Given the description of an element on the screen output the (x, y) to click on. 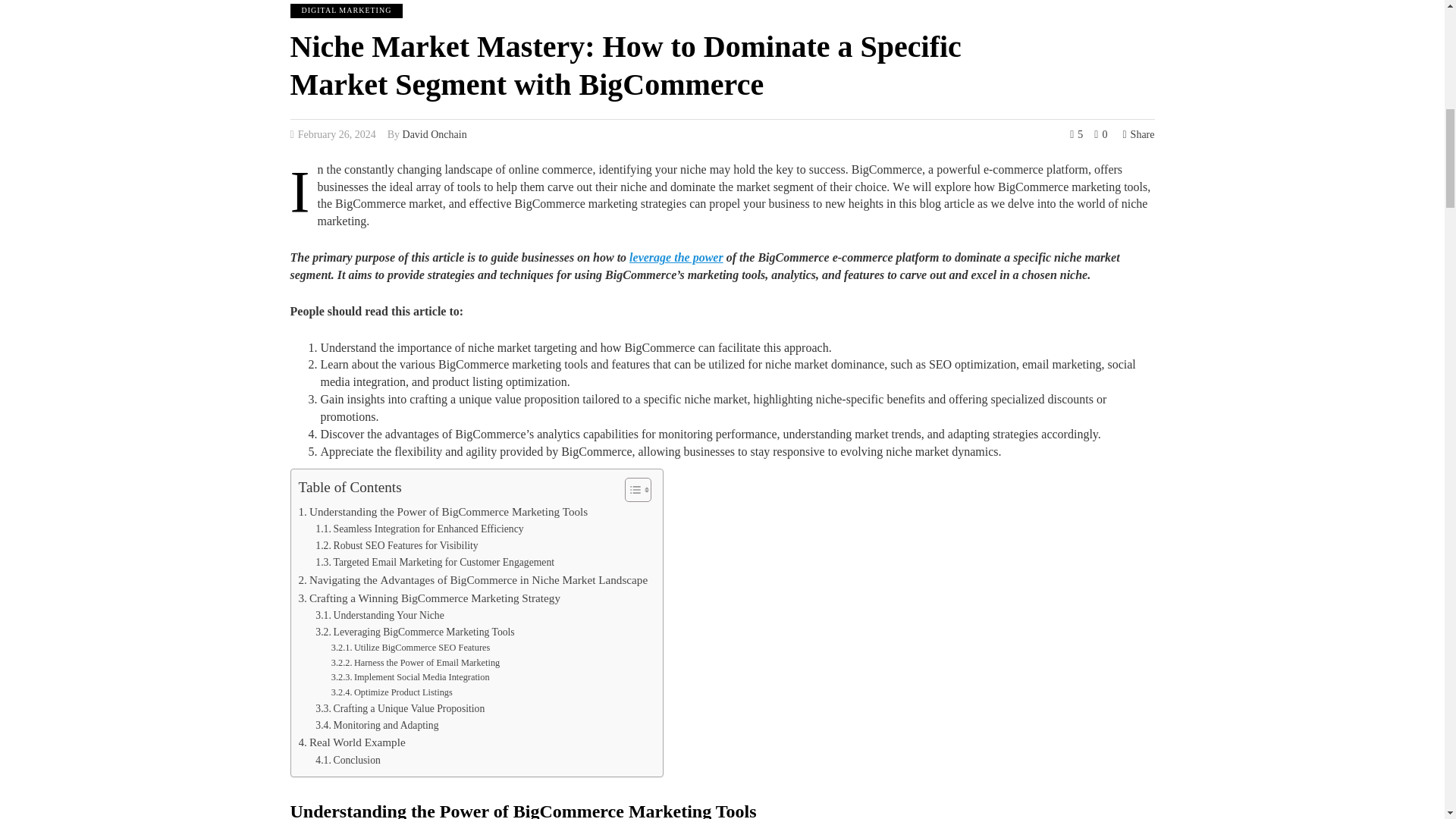
Posts by David Onchain (435, 134)
